Given the description of an element on the screen output the (x, y) to click on. 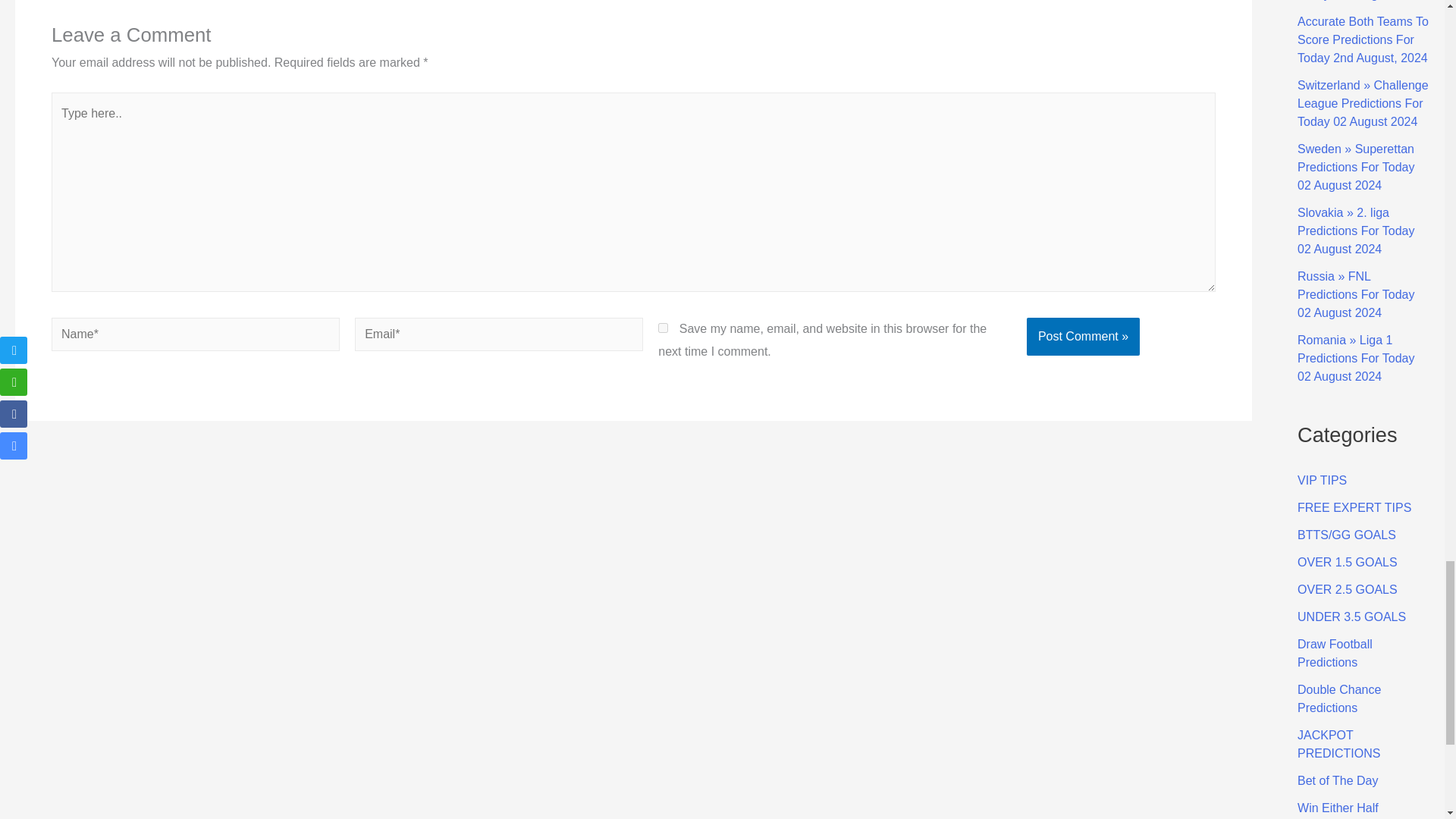
yes (663, 327)
